Given the description of an element on the screen output the (x, y) to click on. 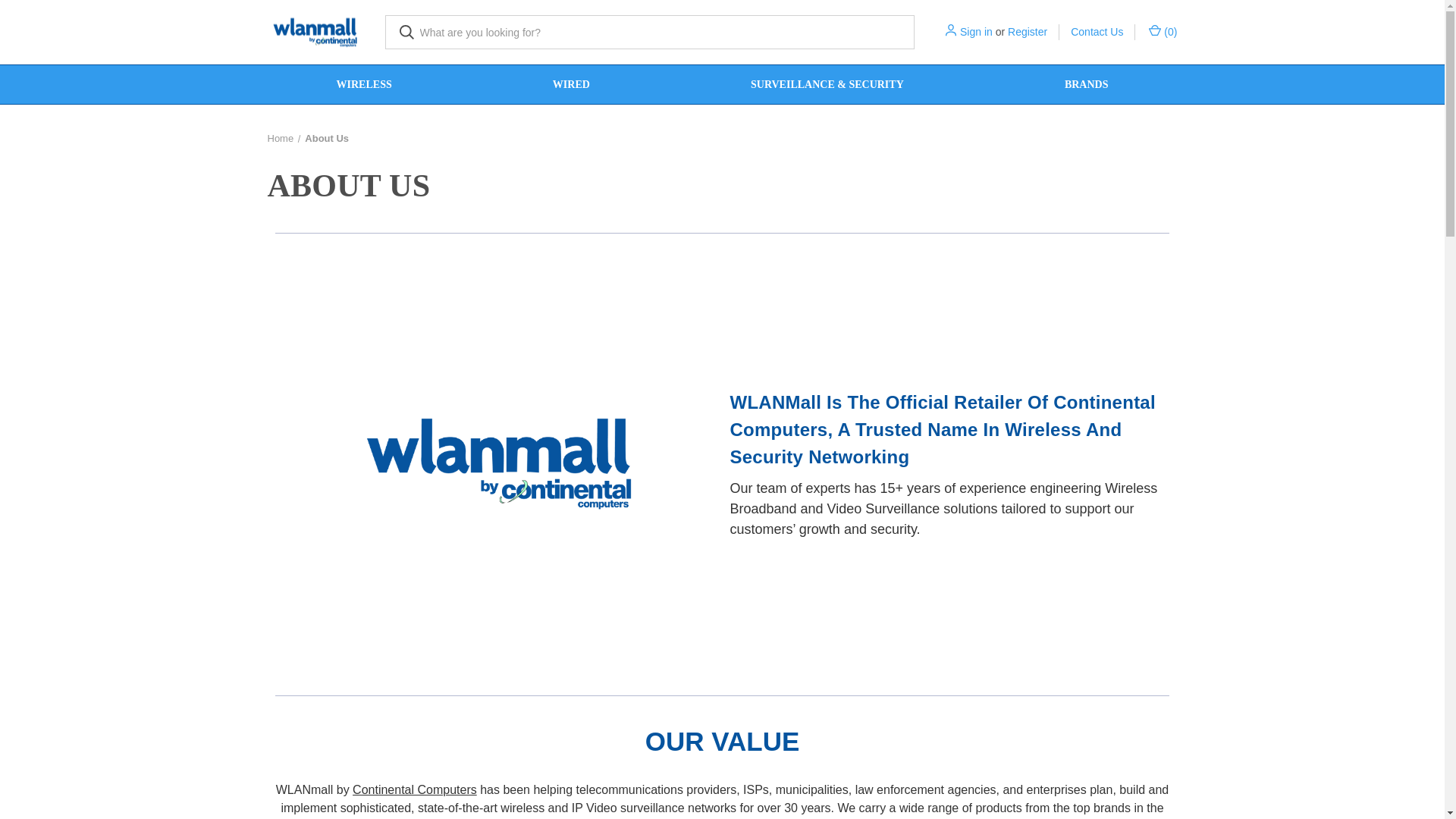
Contact Us (1096, 32)
WIRED (570, 84)
Register (1026, 32)
WIRELESS (363, 84)
WLANMall (313, 31)
Sign in (975, 32)
